Given the description of an element on the screen output the (x, y) to click on. 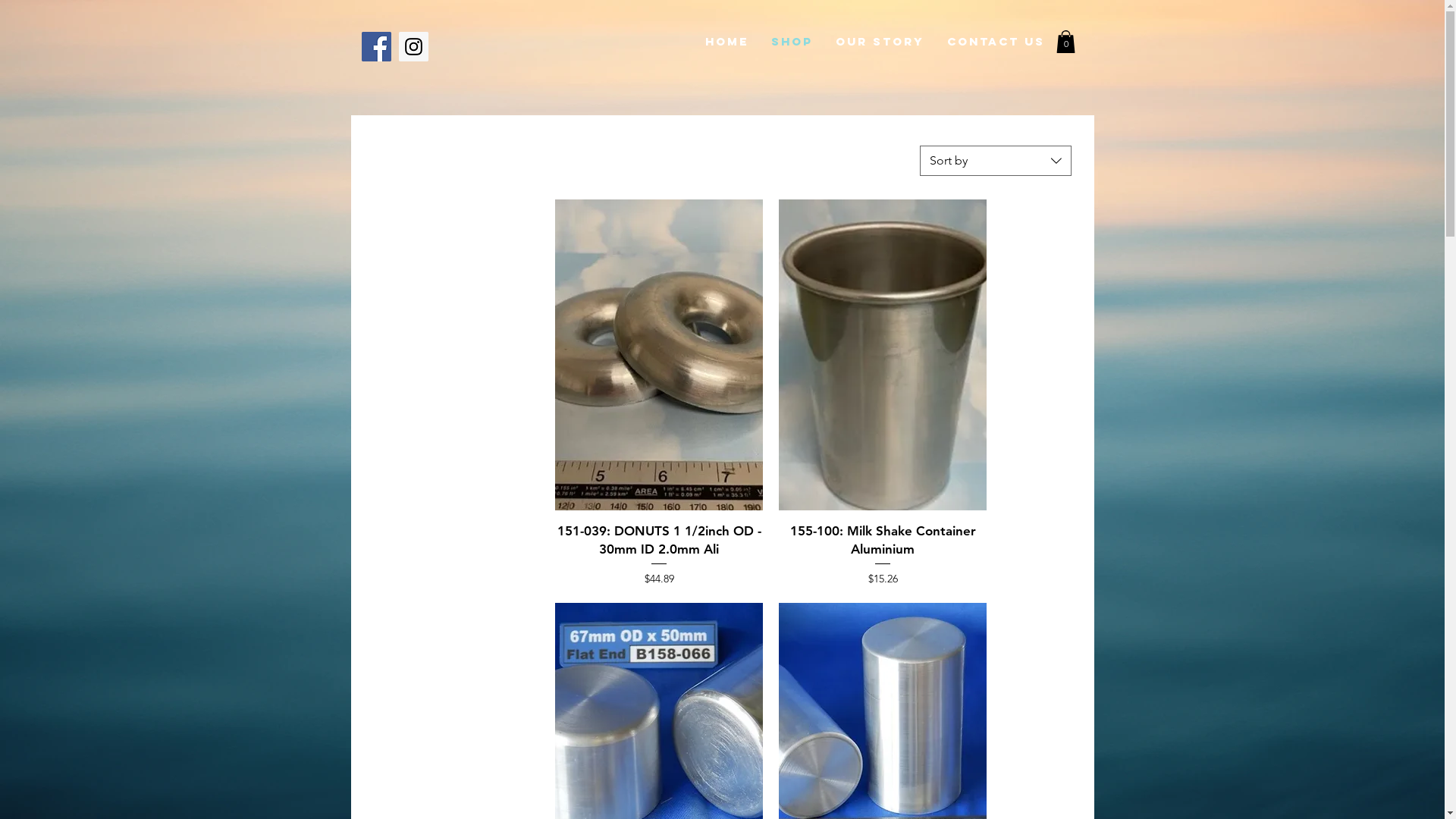
Our Story Element type: text (879, 40)
0 Element type: text (1064, 41)
Sort by Element type: text (995, 160)
Contact Us Element type: text (995, 40)
155-100: Milk Shake Container Aluminium
Price
$15.26 Element type: text (882, 554)
Shop Element type: text (791, 40)
Home Element type: text (726, 40)
